Given the description of an element on the screen output the (x, y) to click on. 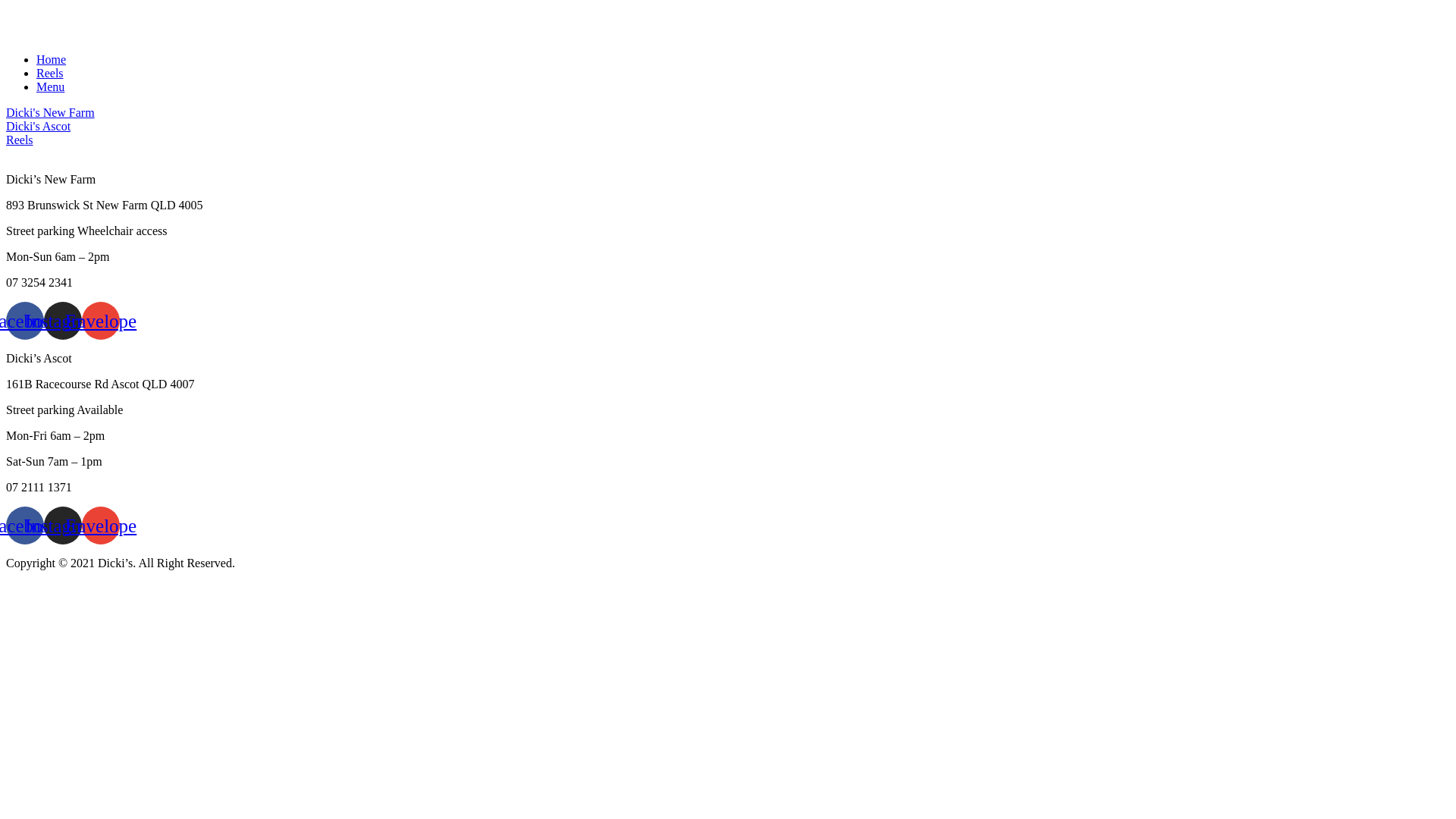
Dicki's Ascot Element type: text (38, 125)
Dicki's New Farm Element type: text (50, 112)
Envelope Element type: text (100, 320)
Envelope Element type: text (100, 525)
Instagram Element type: text (62, 320)
Menu Element type: text (50, 86)
Instagram Element type: text (62, 525)
Reels Element type: text (49, 72)
Facebook Element type: text (24, 320)
Facebook Element type: text (24, 525)
Home Element type: text (50, 59)
Reels Element type: text (19, 139)
